Given the description of an element on the screen output the (x, y) to click on. 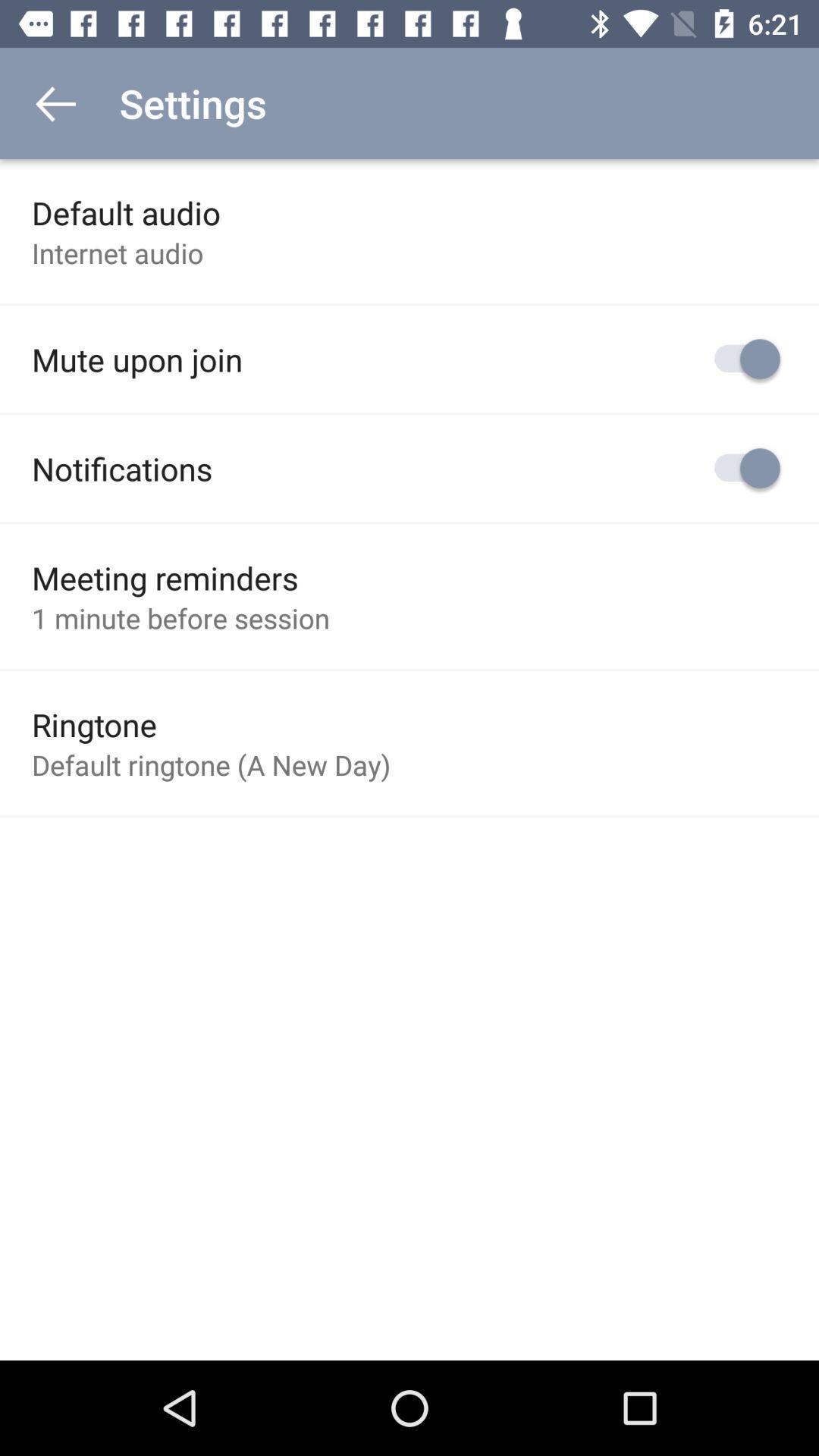
open icon to the left of settings (55, 103)
